Given the description of an element on the screen output the (x, y) to click on. 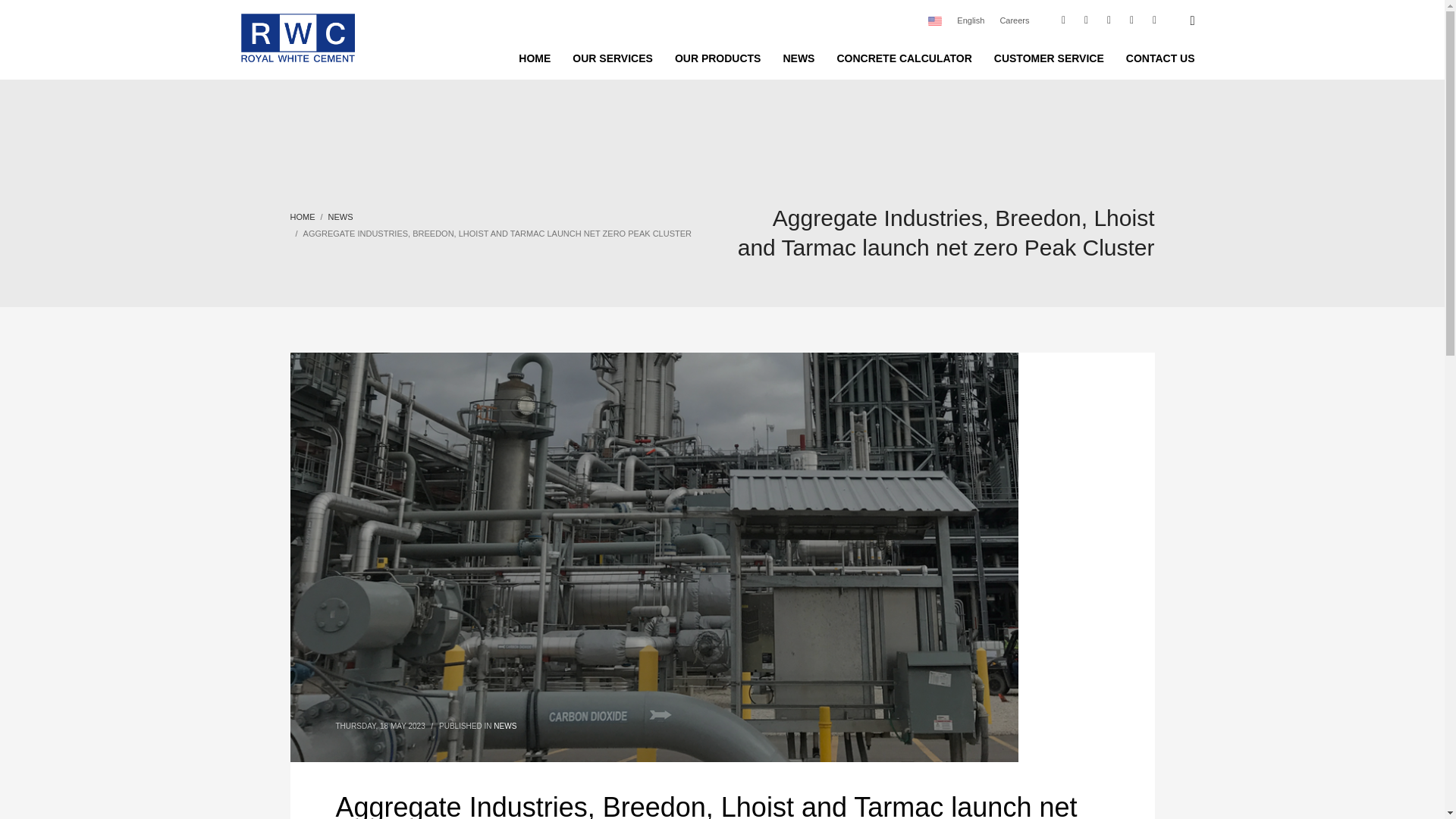
Instagram (1131, 20)
NEWS (341, 216)
NEWS (798, 57)
The World's White Cement (298, 37)
OUR SERVICES (612, 57)
CUSTOMER SERVICE (1049, 57)
Twitter (1086, 20)
Careers (1013, 20)
HOME (301, 216)
CONTACT US (1160, 57)
